Given the description of an element on the screen output the (x, y) to click on. 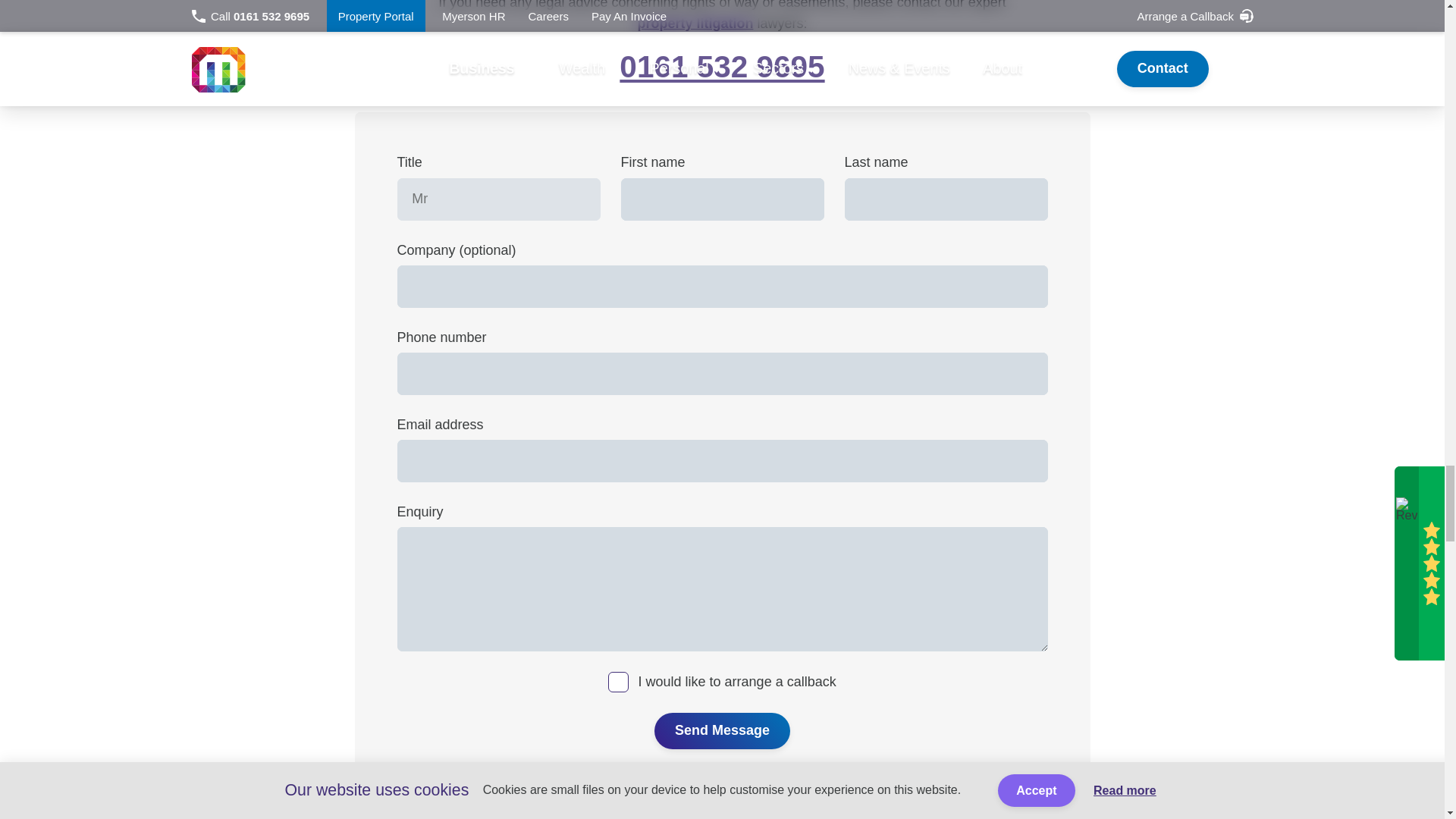
1 (618, 681)
